Given the description of an element on the screen output the (x, y) to click on. 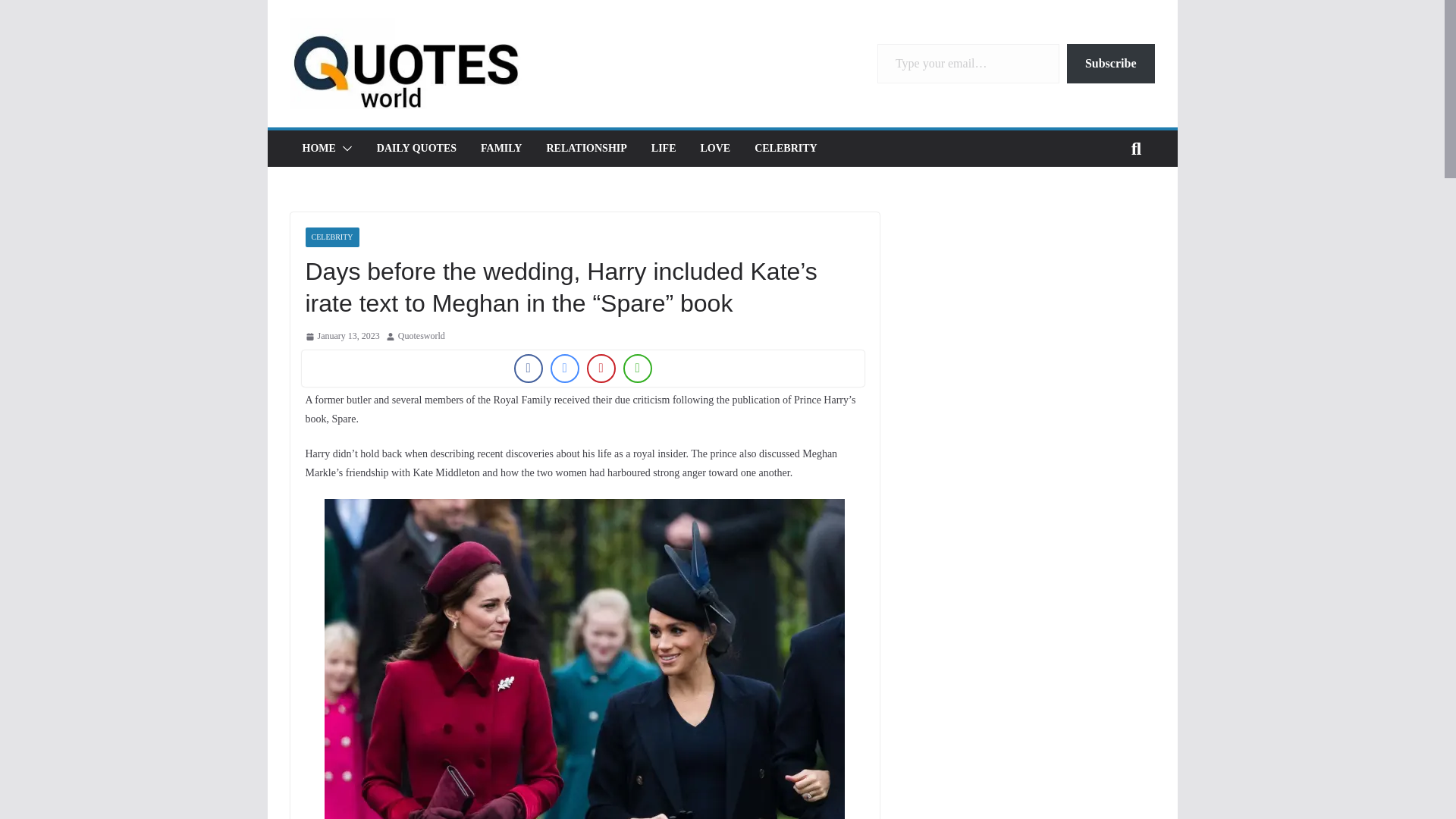
January 13, 2023 (341, 336)
3:05 pm (341, 336)
FAMILY (500, 148)
HOME (317, 148)
Quotesworld (421, 336)
Subscribe (1110, 64)
DAILY QUOTES (417, 148)
LOVE (715, 148)
Please fill in this field. (968, 64)
LIFE (663, 148)
CELEBRITY (331, 237)
CELEBRITY (785, 148)
Quotesworld (421, 336)
RELATIONSHIP (586, 148)
